Given the description of an element on the screen output the (x, y) to click on. 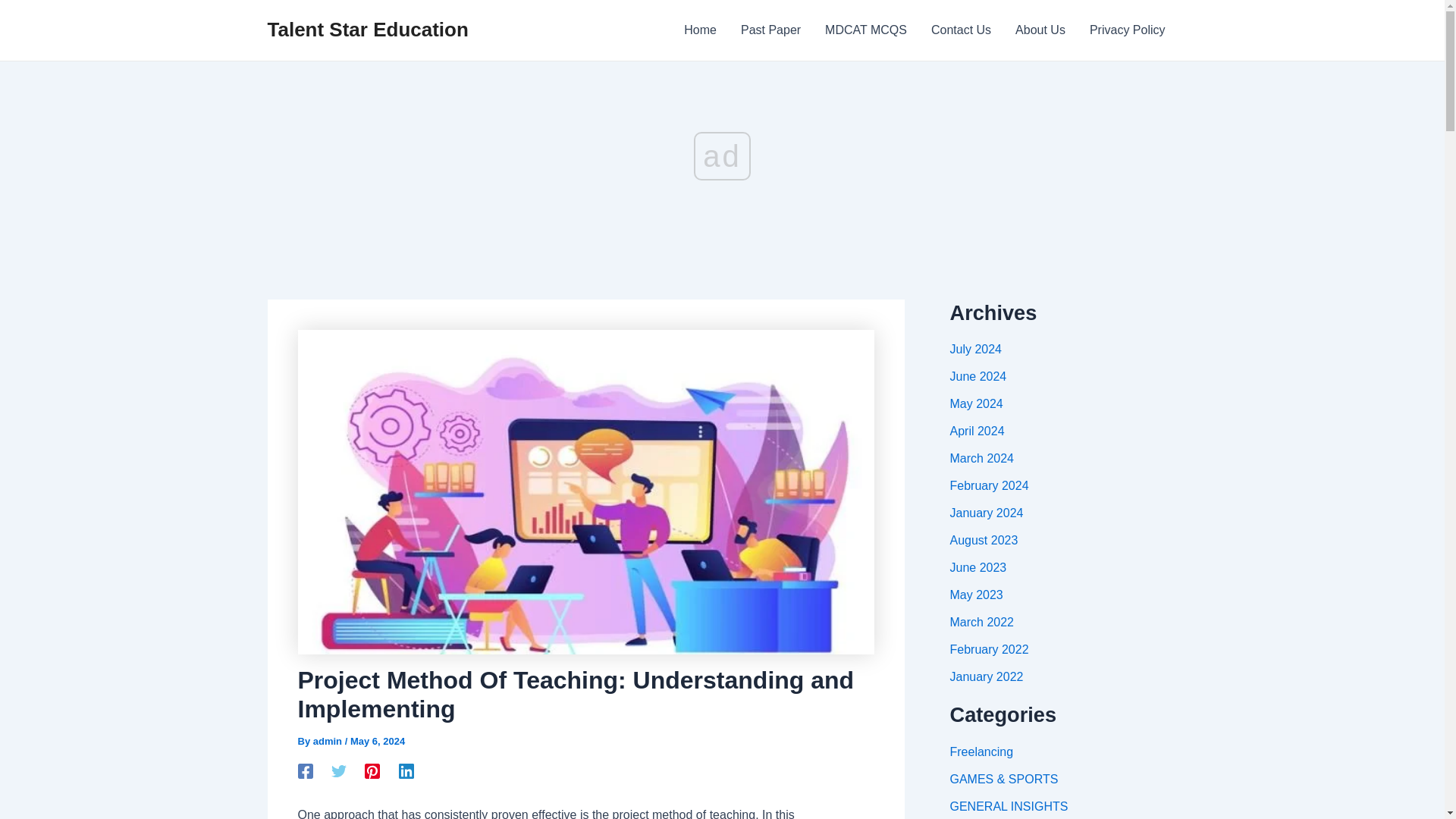
Home (700, 30)
MDCAT MCQS (865, 30)
About Us (1040, 30)
Past Paper (770, 30)
Talent Star Education (366, 29)
Contact Us (960, 30)
View all posts by admin (329, 740)
Privacy Policy (1127, 30)
